Given the description of an element on the screen output the (x, y) to click on. 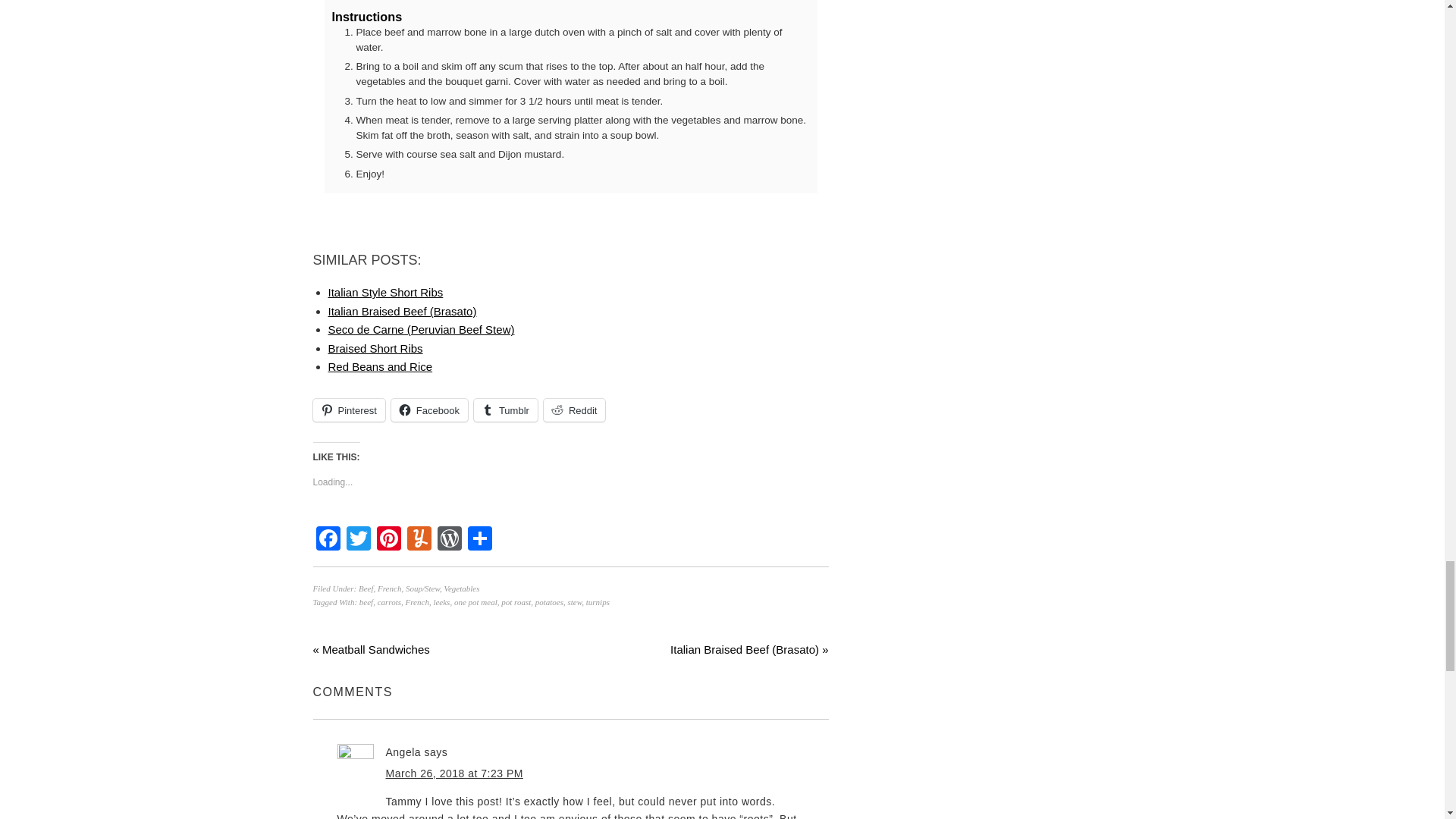
Red Beans and Rice (379, 366)
Tumblr (505, 409)
Click to share on Facebook (429, 409)
Facebook (327, 540)
beef (365, 601)
Pinterest (348, 409)
carrots (389, 601)
one pot meal (475, 601)
Pinterest (387, 540)
Beef (366, 587)
leeks (440, 601)
Italian Style Short Ribs (384, 291)
Facebook (327, 540)
Twitter (357, 540)
WordPress (448, 540)
